Given the description of an element on the screen output the (x, y) to click on. 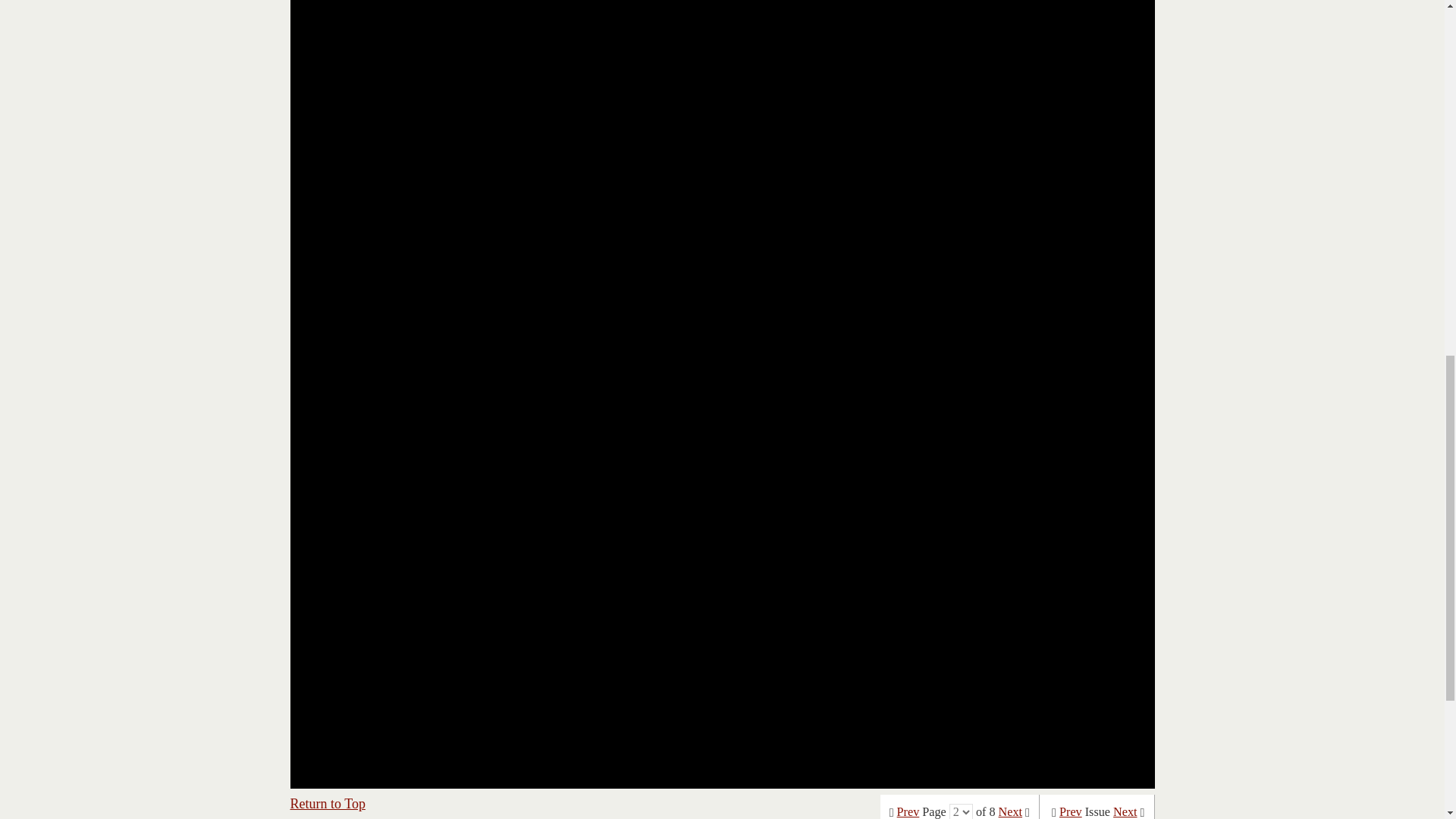
Next (1125, 812)
Return to Top (327, 803)
Prev (908, 812)
Next (1010, 812)
Prev (1070, 812)
